Given the description of an element on the screen output the (x, y) to click on. 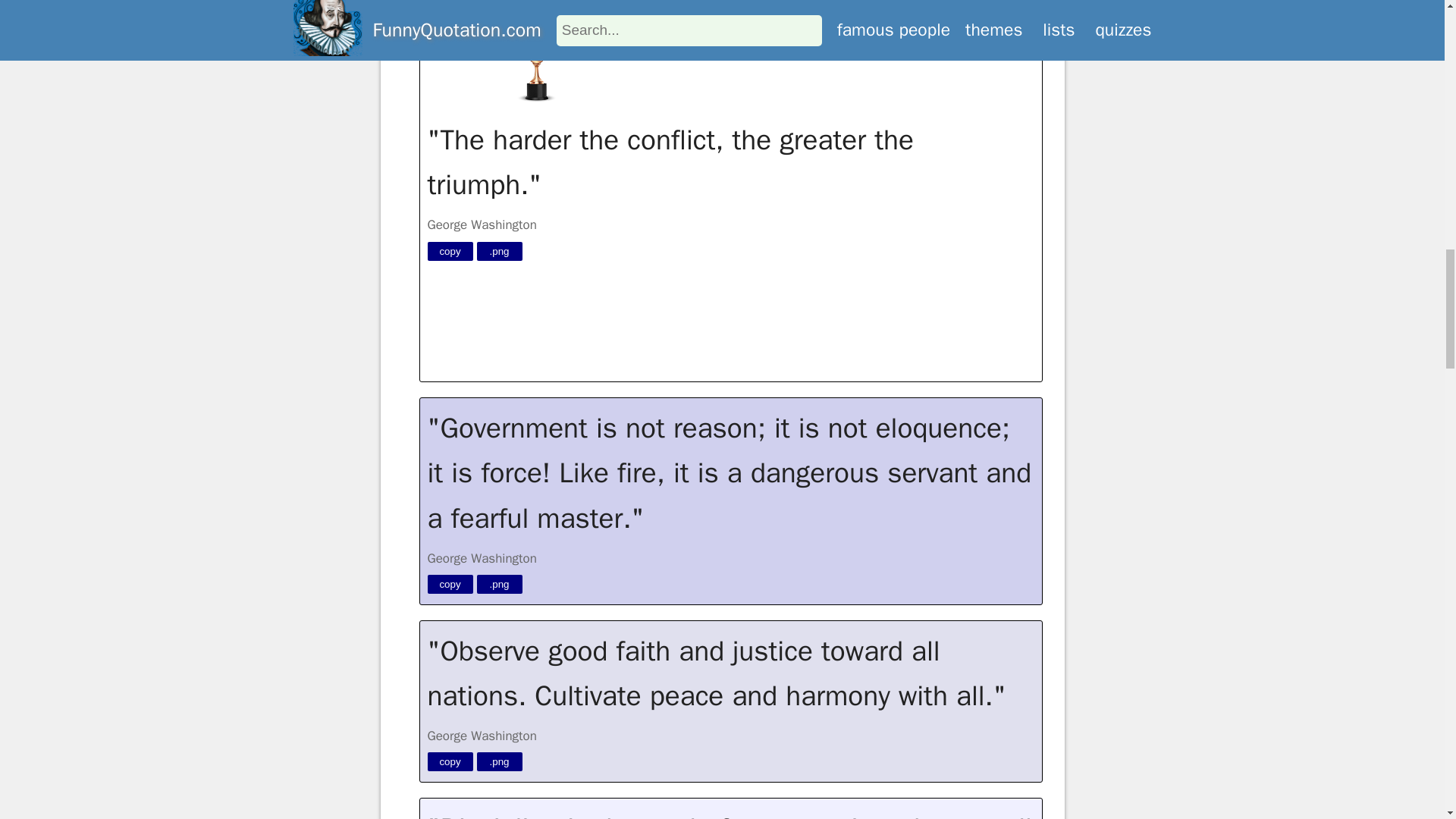
copy (450, 250)
copy (450, 583)
copy (450, 761)
.png (498, 250)
.png (498, 761)
.png (498, 583)
